Given the description of an element on the screen output the (x, y) to click on. 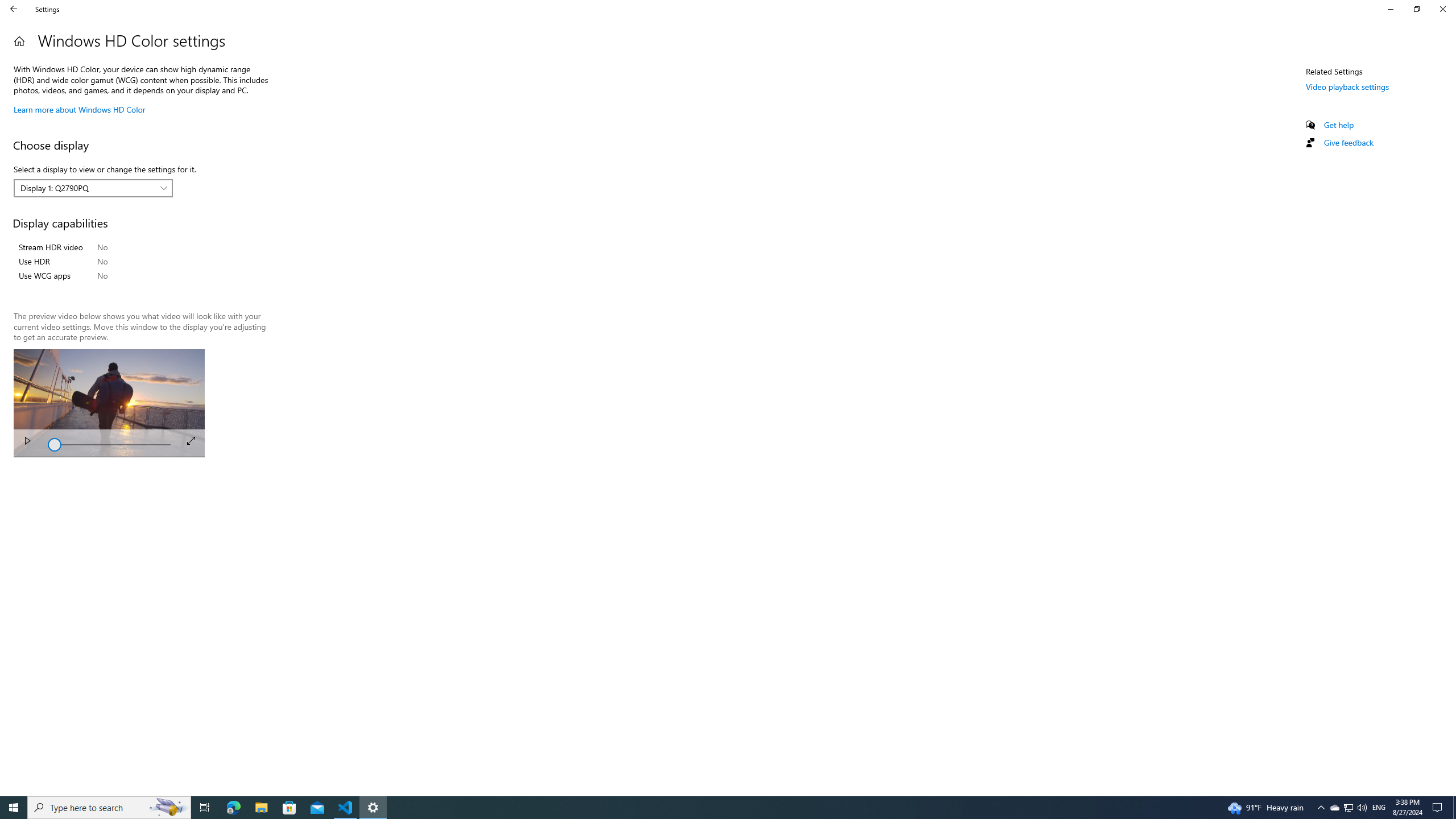
Full Screen (191, 440)
Restore Settings (1416, 9)
Back (13, 9)
Settings - 1 running window (373, 807)
Learn more about Windows HD Color (79, 109)
Get help (1338, 124)
Close Settings (1442, 9)
